Given the description of an element on the screen output the (x, y) to click on. 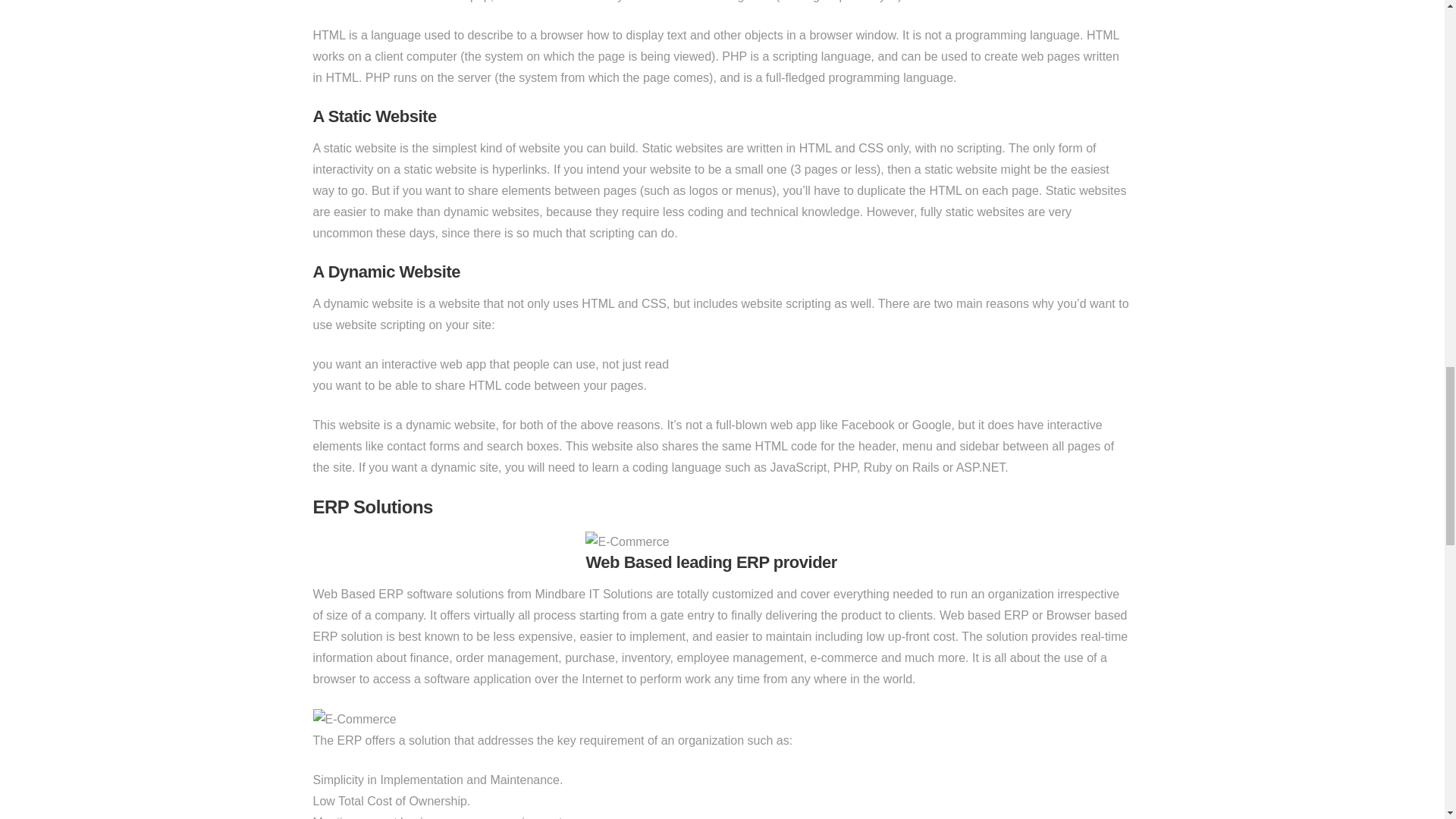
ERP Solutions (372, 506)
